Given the description of an element on the screen output the (x, y) to click on. 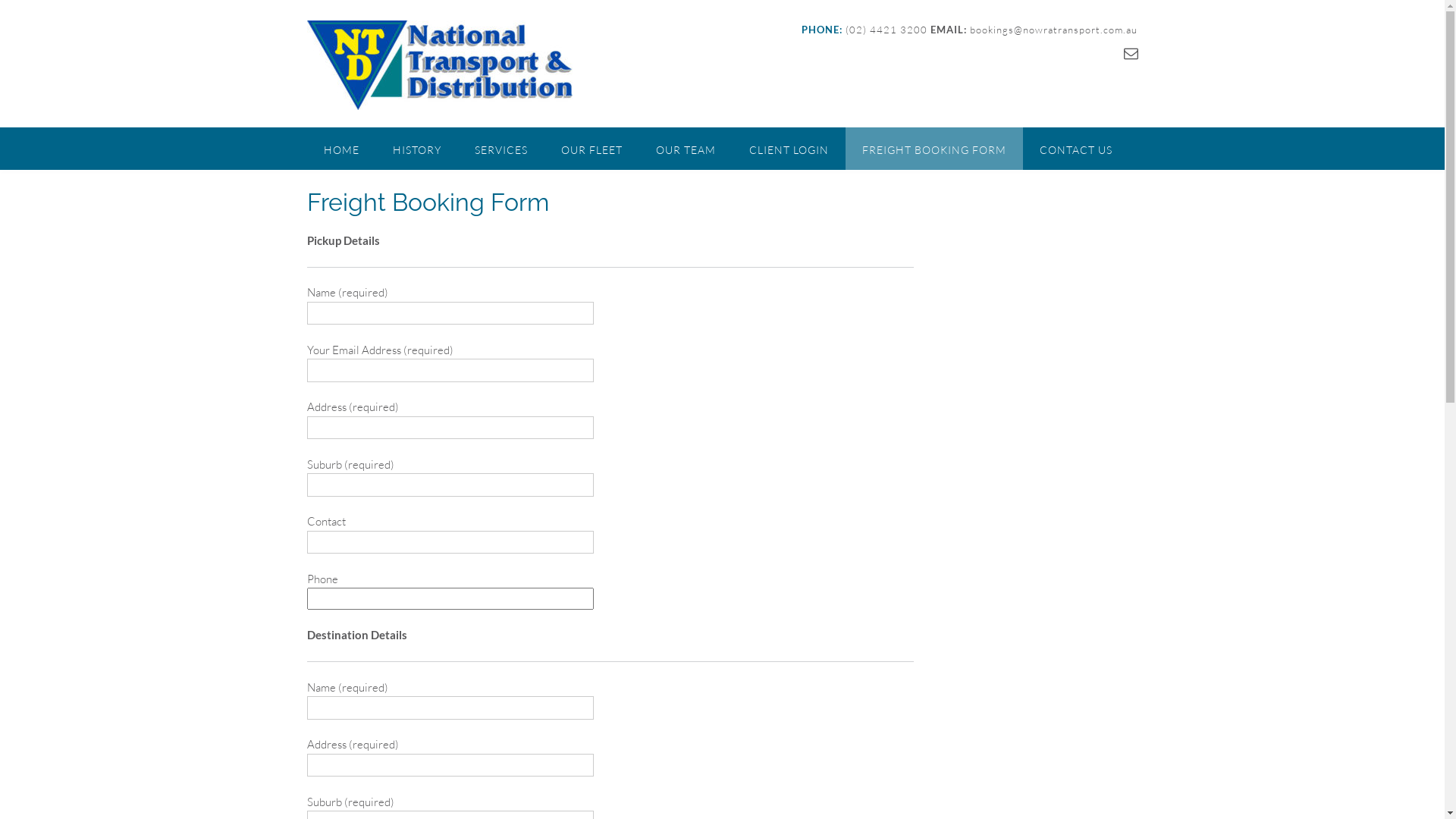
HISTORY Element type: text (417, 148)
FREIGHT BOOKING FORM Element type: text (933, 148)
OUR FLEET Element type: text (591, 148)
CLIENT LOGIN Element type: text (788, 148)
CONTACT US Element type: text (1075, 148)
OUR TEAM Element type: text (684, 148)
HOME Element type: text (340, 148)
Send us an email Element type: hover (1130, 52)
SERVICES Element type: text (501, 148)
